Given the description of an element on the screen output the (x, y) to click on. 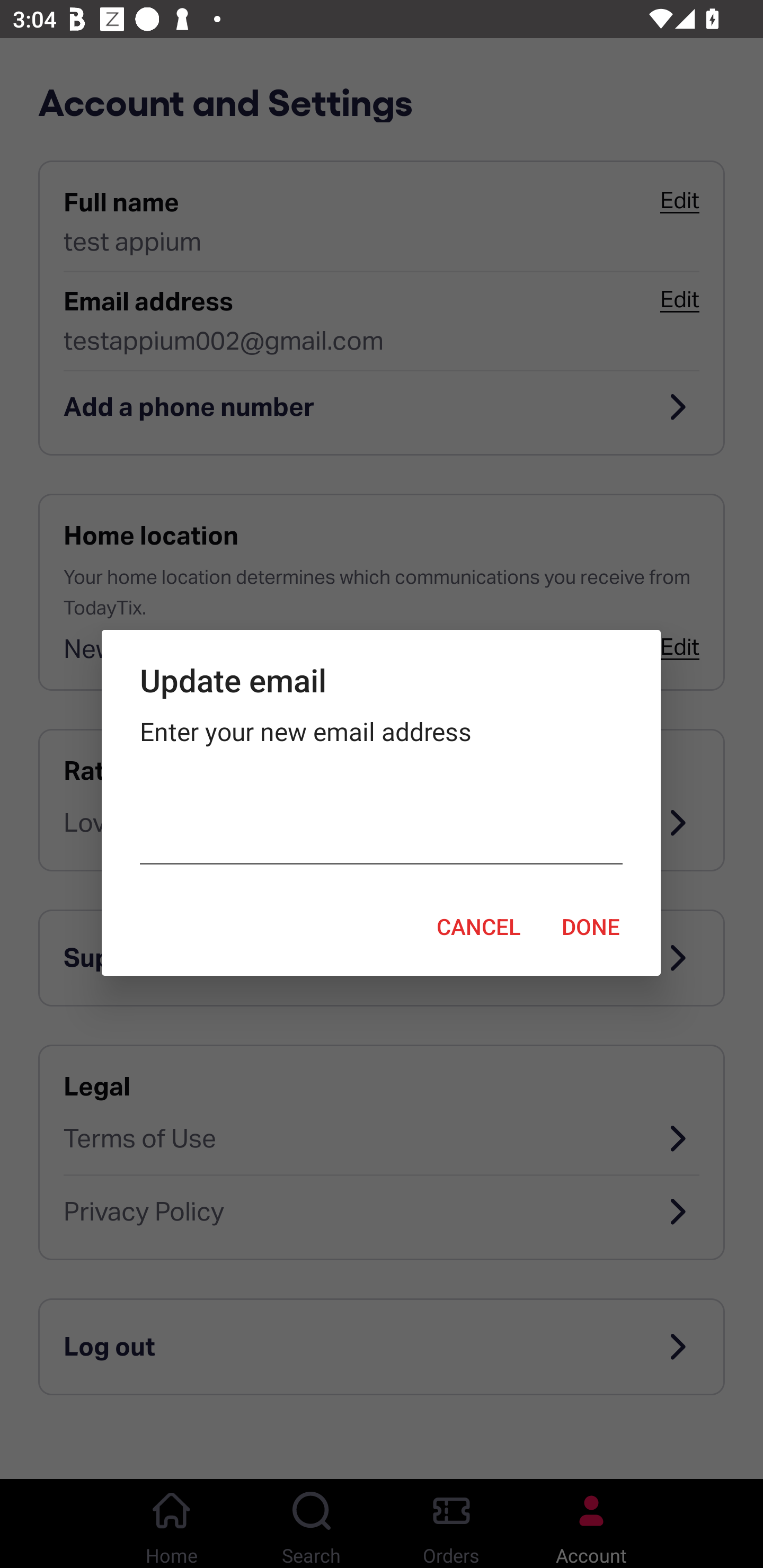
CANCEL (478, 926)
DONE (590, 926)
